Given the description of an element on the screen output the (x, y) to click on. 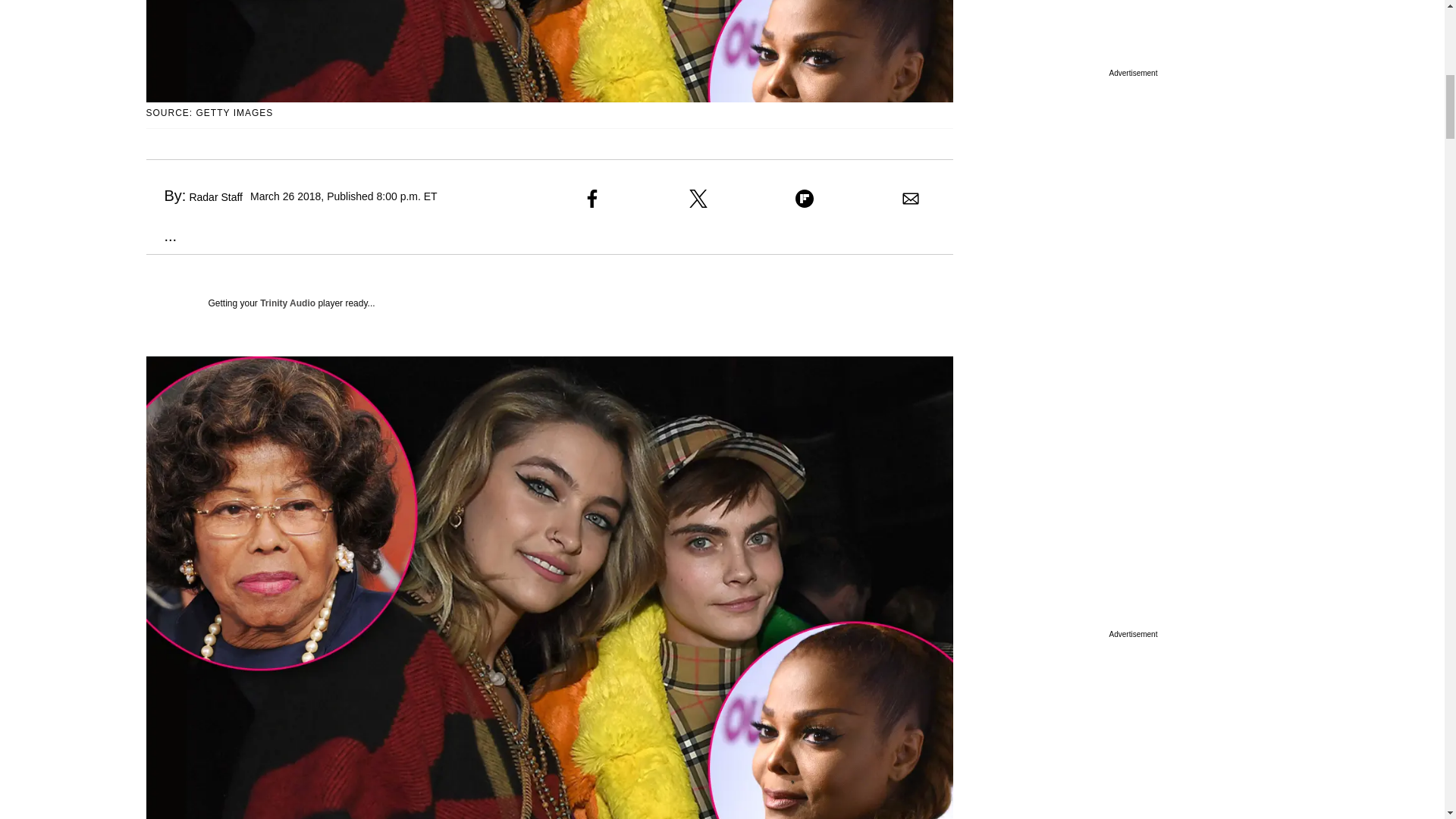
Share to X (697, 198)
Share to Facebook (590, 198)
Trinity Audio (287, 303)
Radar Staff (216, 196)
Share to Flipboard (803, 198)
Share to Email (909, 198)
... (160, 235)
